Given the description of an element on the screen output the (x, y) to click on. 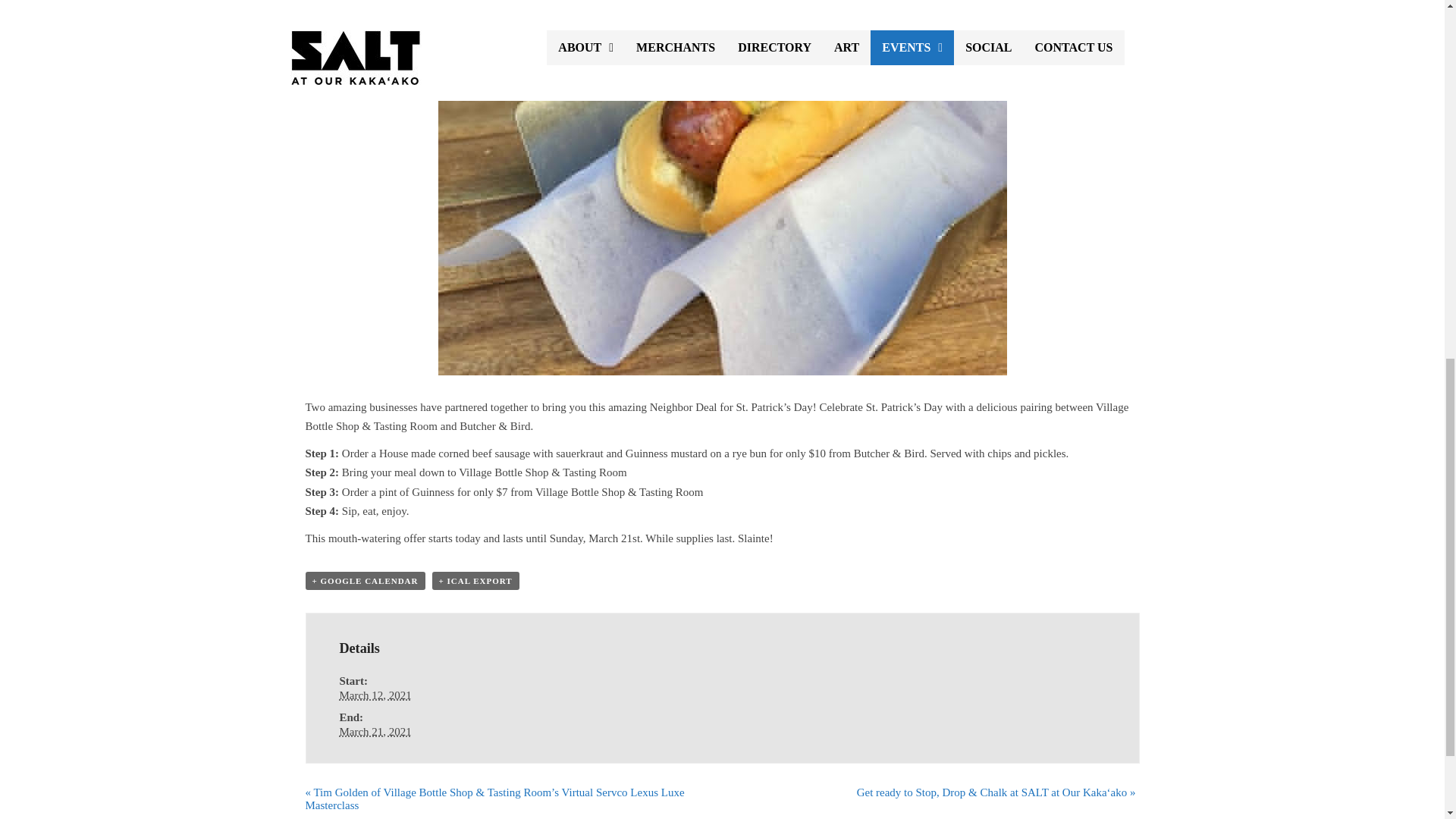
2021-03-21 (374, 730)
Download .ics file (475, 580)
2021-03-12 (374, 695)
Add to Google Calendar (364, 580)
